Given the description of an element on the screen output the (x, y) to click on. 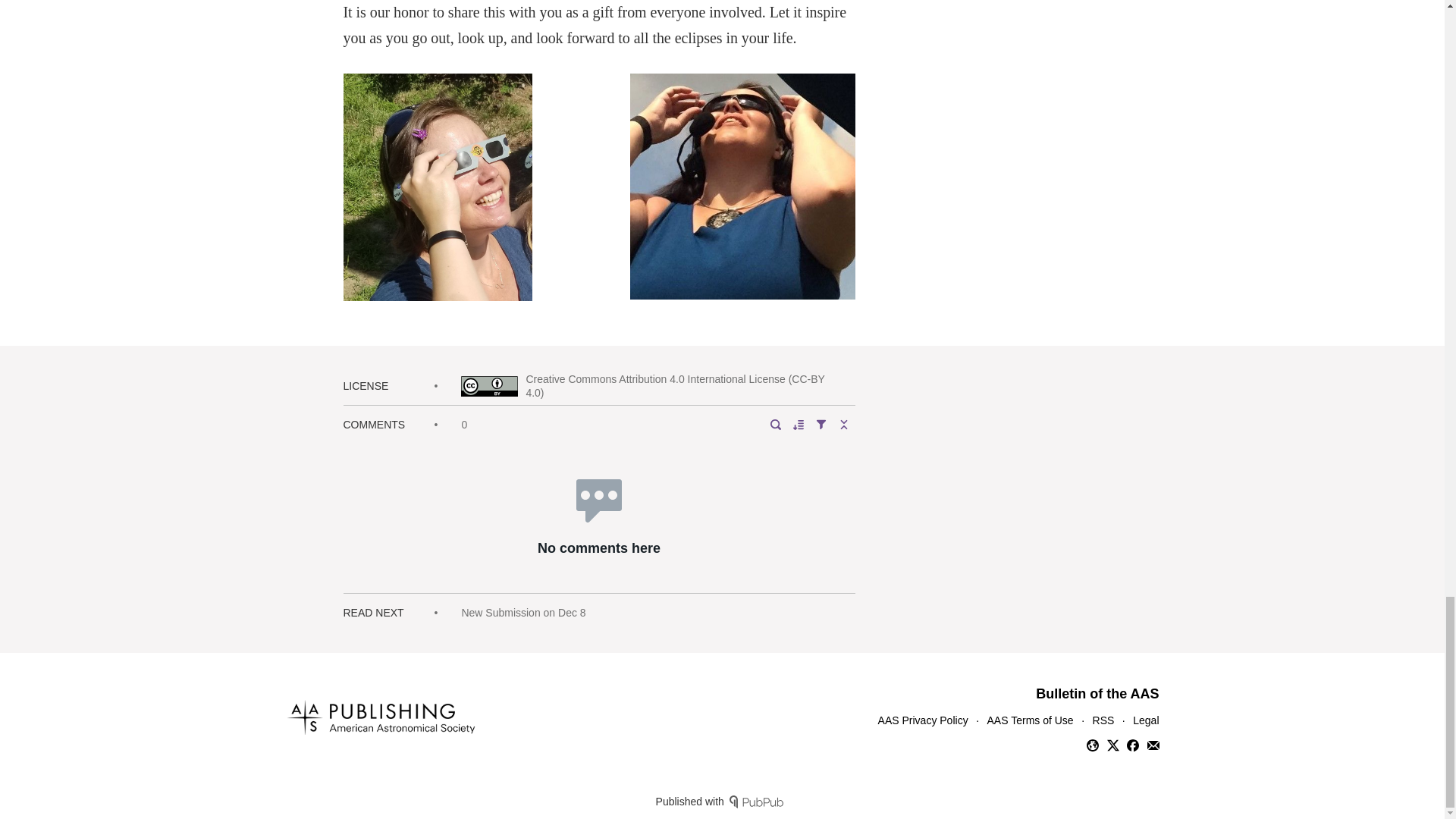
AAS Terms of Use (1030, 720)
Bulletin of the AAS (1096, 693)
New Submission on Dec 8 (523, 612)
AAS Privacy Policy (922, 720)
